Given the description of an element on the screen output the (x, y) to click on. 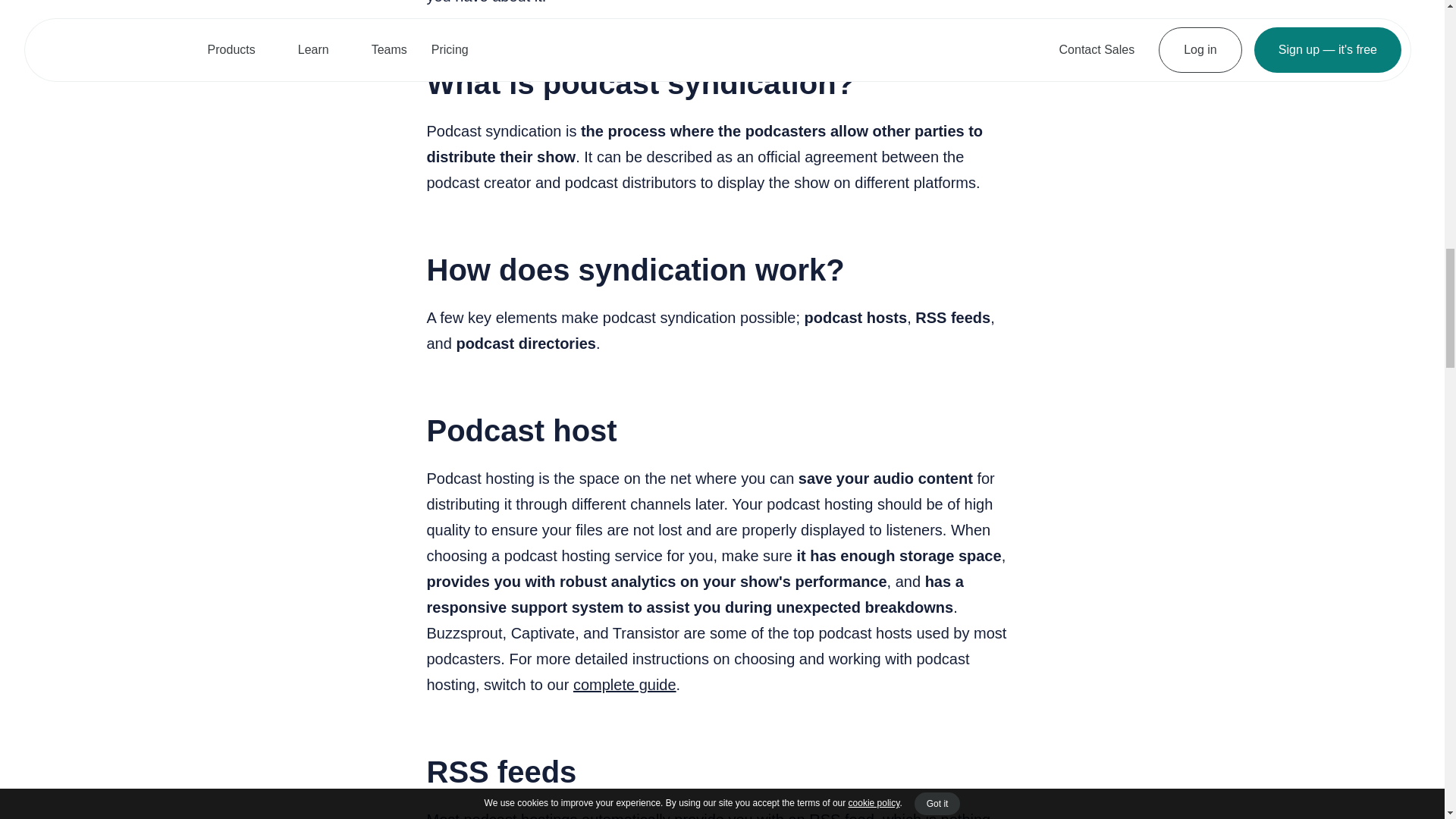
complete guide (625, 684)
